Given the description of an element on the screen output the (x, y) to click on. 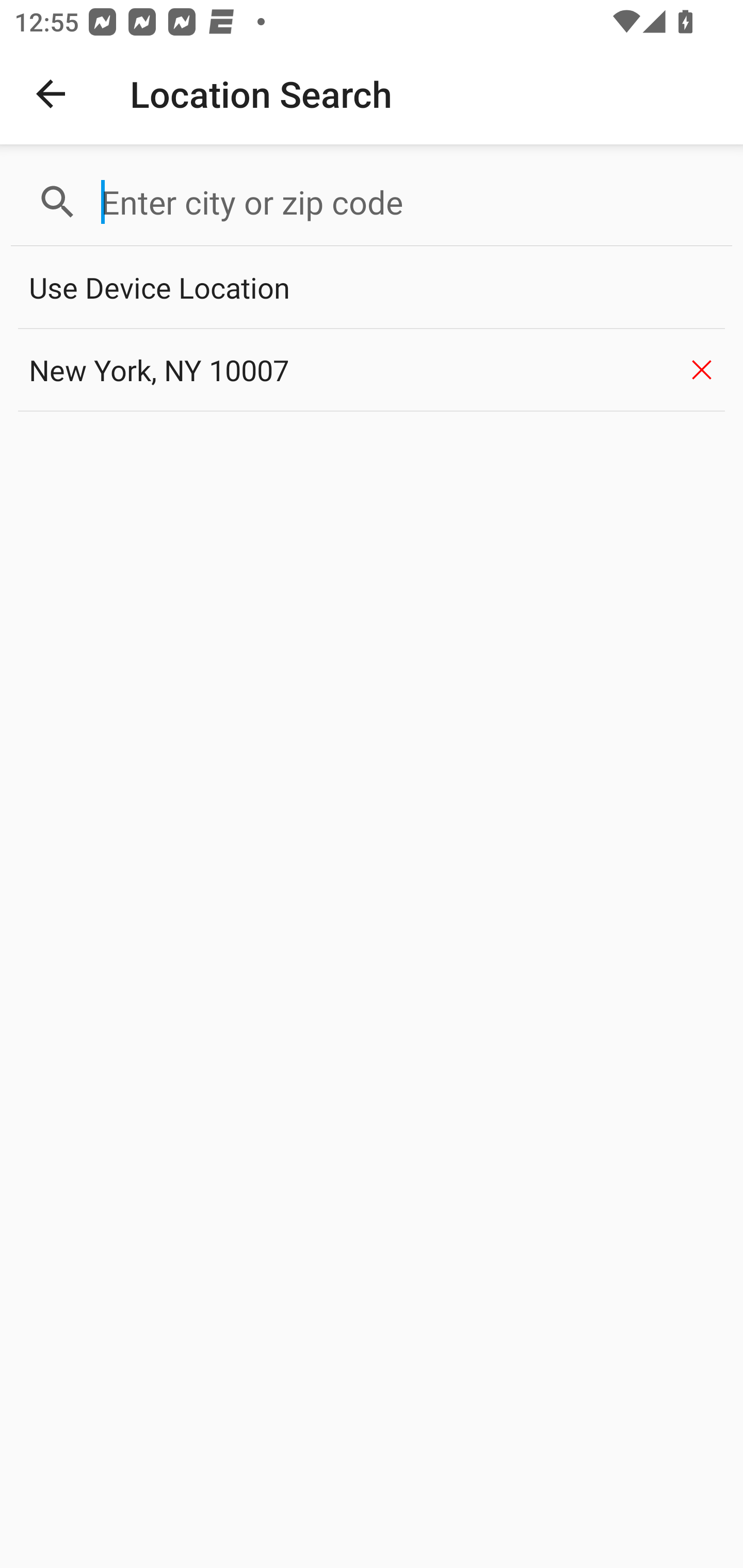
Navigate up (50, 93)
Enter city or zip code (407, 202)
Use Device Location (371, 287)
